Given the description of an element on the screen output the (x, y) to click on. 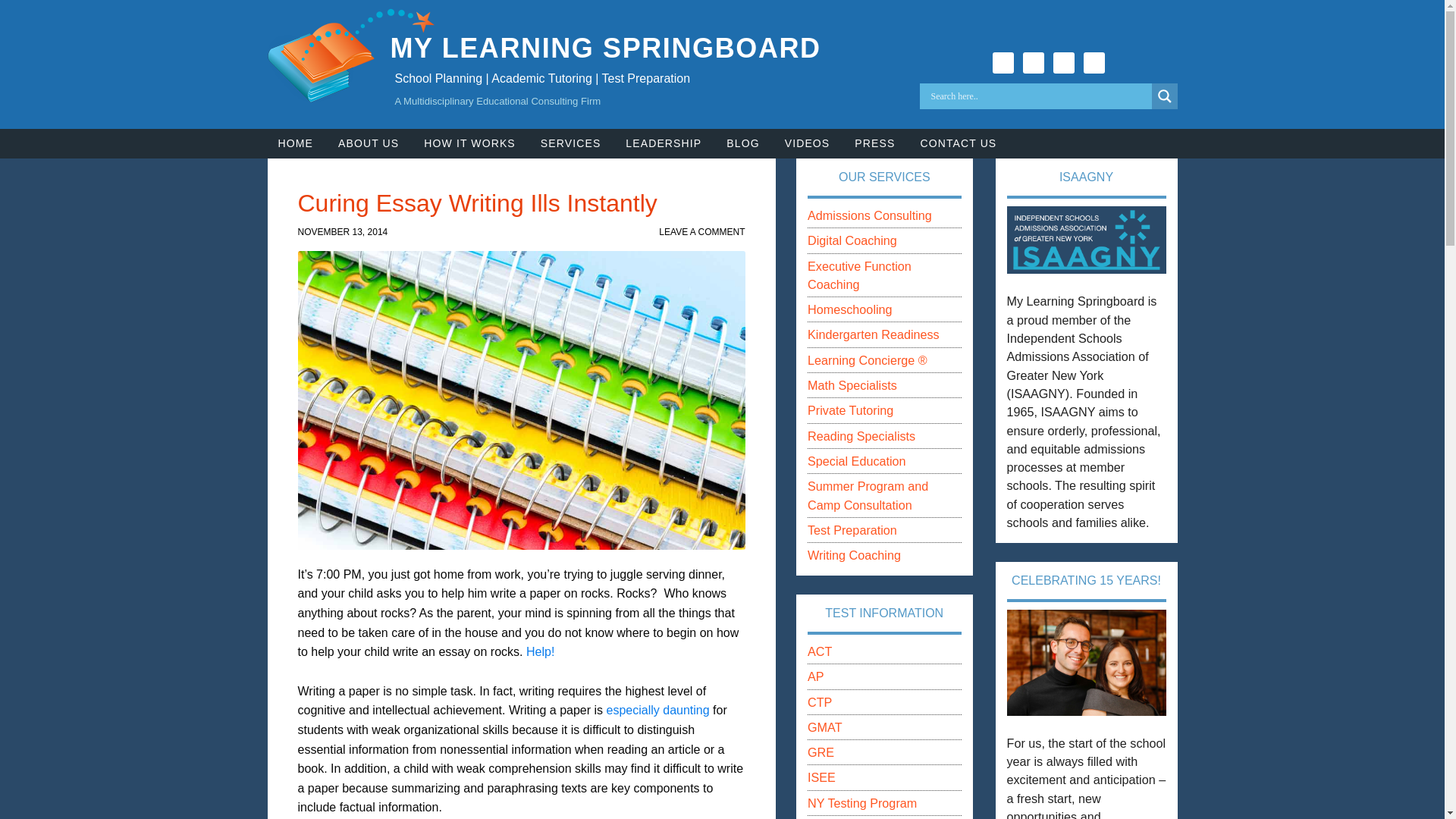
MY LEARNING SPRINGBOARD (605, 47)
HOME (294, 143)
PRESS (874, 143)
BLOG (743, 143)
LEADERSHIP (662, 143)
Executive Function Coaching (859, 275)
Help! (539, 651)
Home (294, 143)
especially daunting (658, 709)
Educational Consulting Services (570, 143)
